Given the description of an element on the screen output the (x, y) to click on. 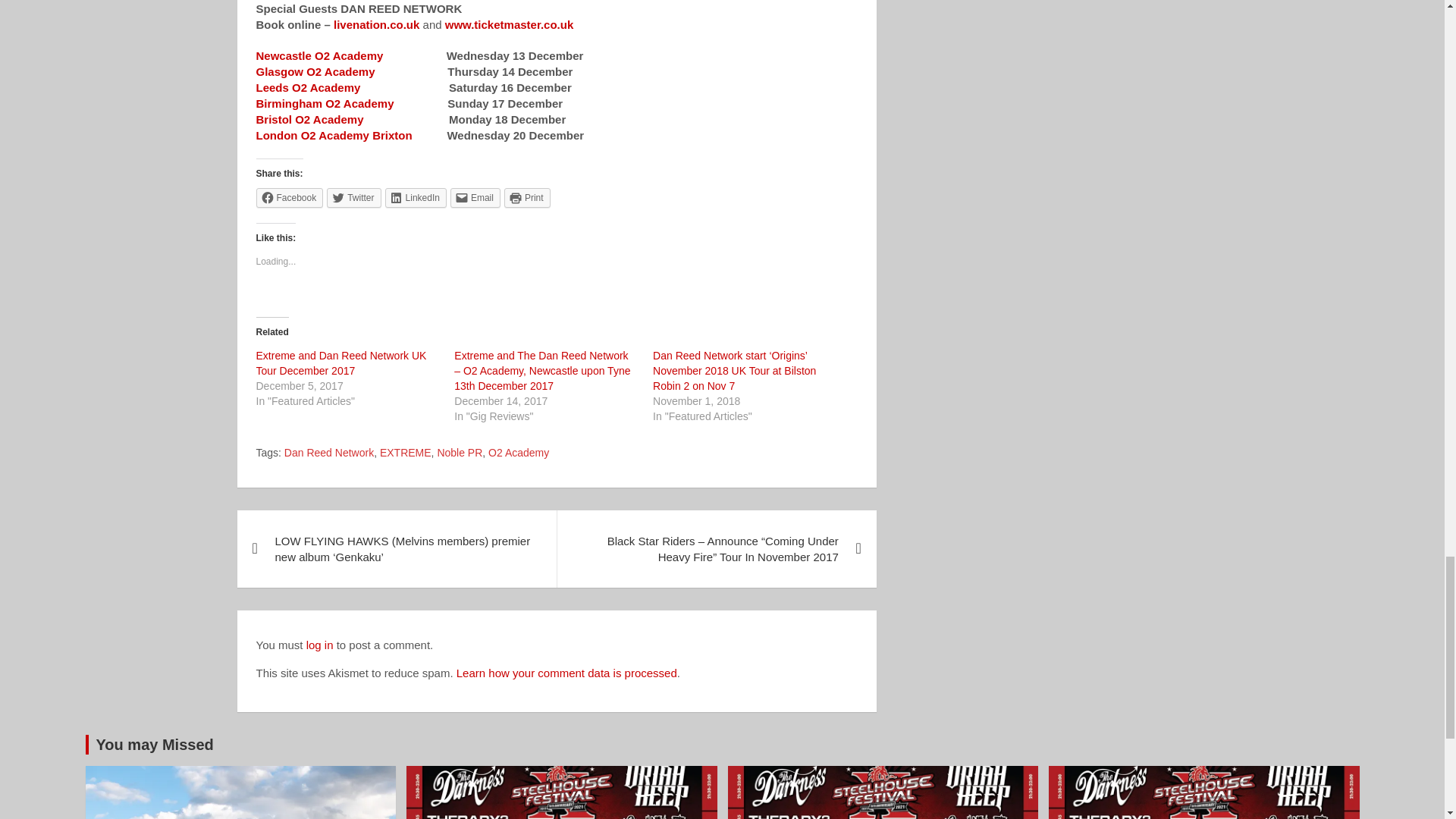
Click to email a link to a friend (474, 198)
www.ticketmaster.co.uk (509, 24)
Newcastle O2 Academy (320, 55)
Click to share on LinkedIn (415, 198)
Glasgow O2 Academy (315, 71)
Click to print (526, 198)
Click to share on Twitter (353, 198)
Extreme and Dan Reed Network UK Tour December 2017 (341, 362)
Click to share on Facebook (289, 198)
livenation.co.uk (376, 24)
